Given the description of an element on the screen output the (x, y) to click on. 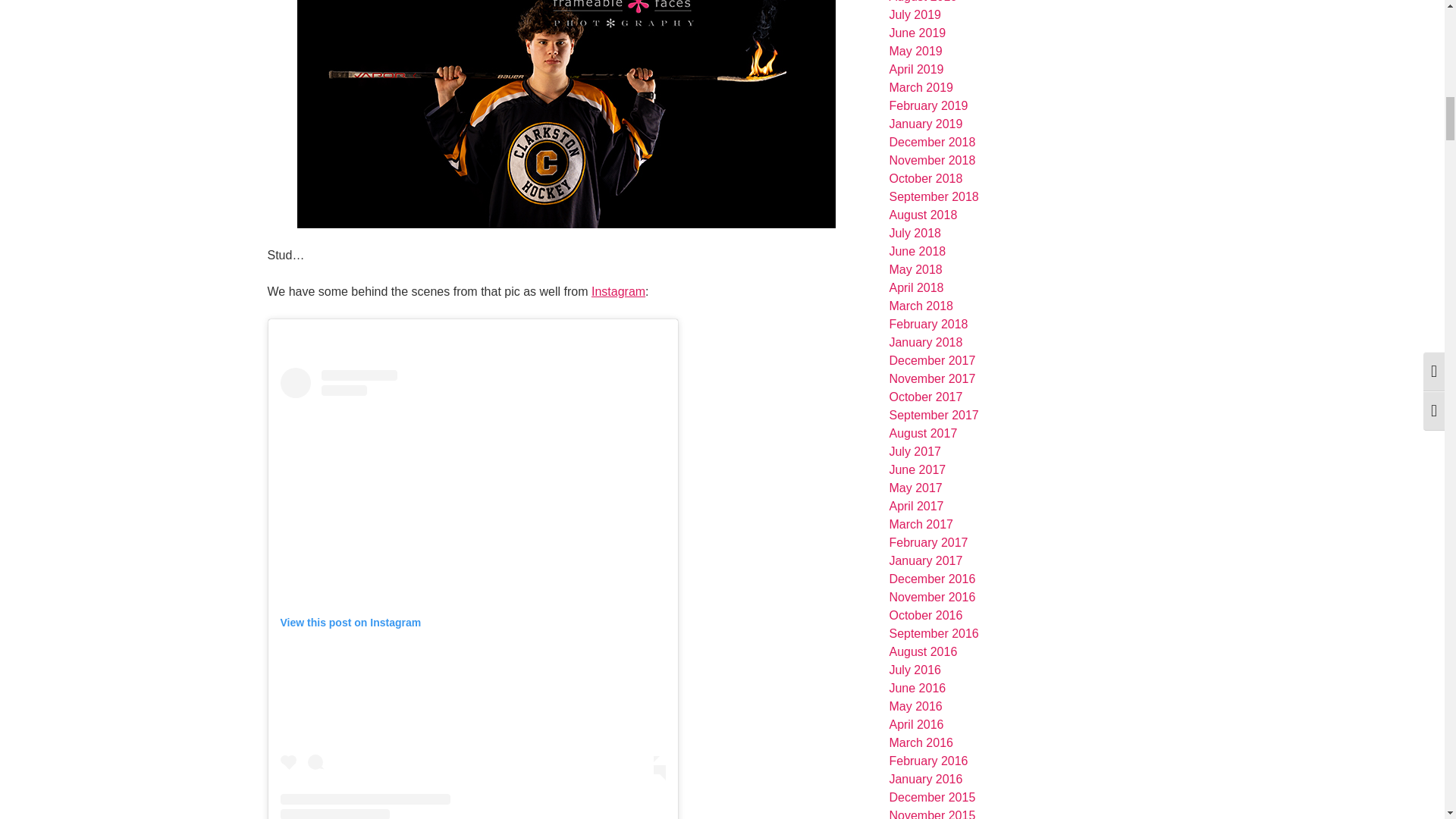
Instagram (618, 291)
